Given the description of an element on the screen output the (x, y) to click on. 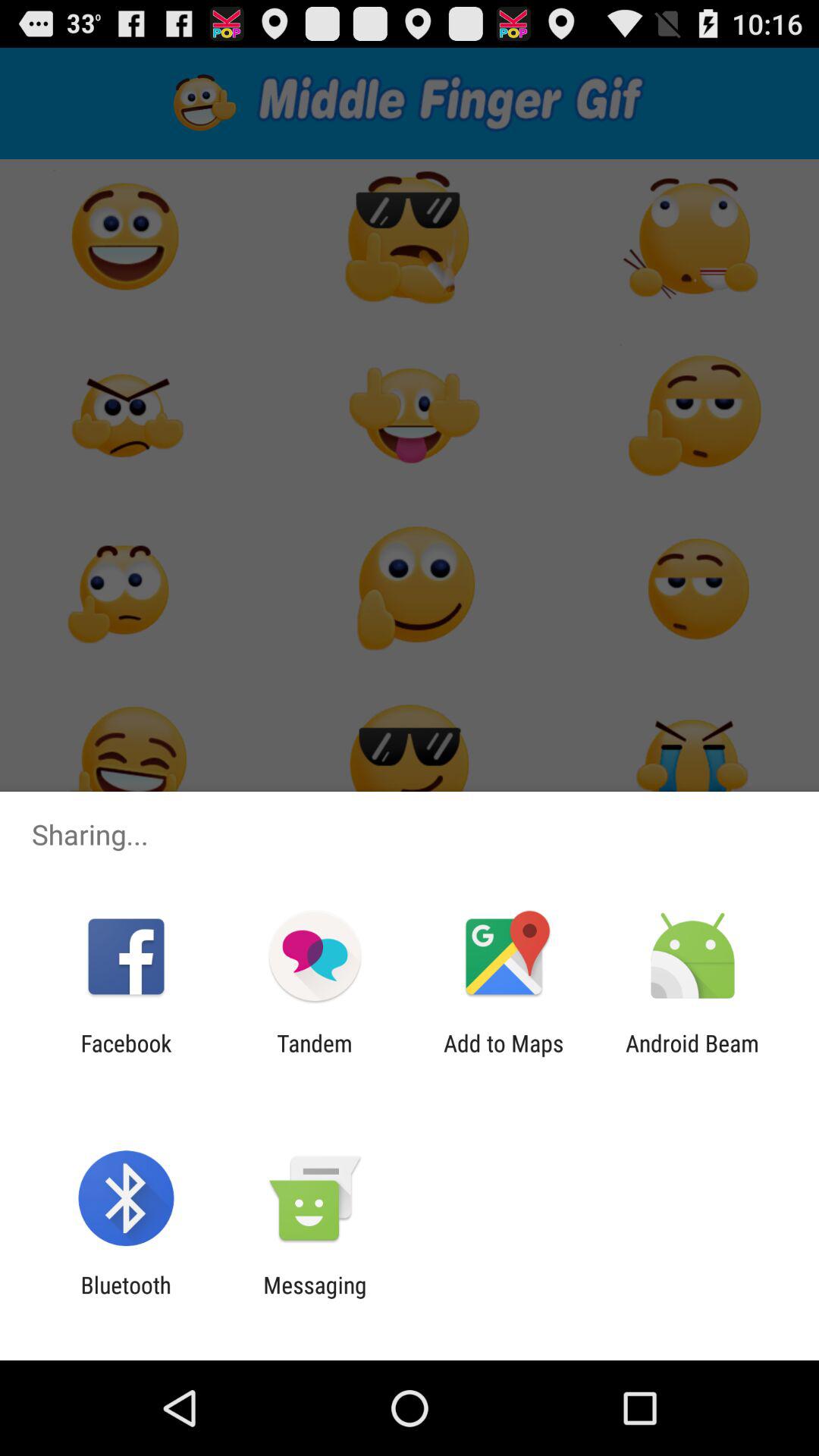
flip to tandem app (314, 1056)
